Given the description of an element on the screen output the (x, y) to click on. 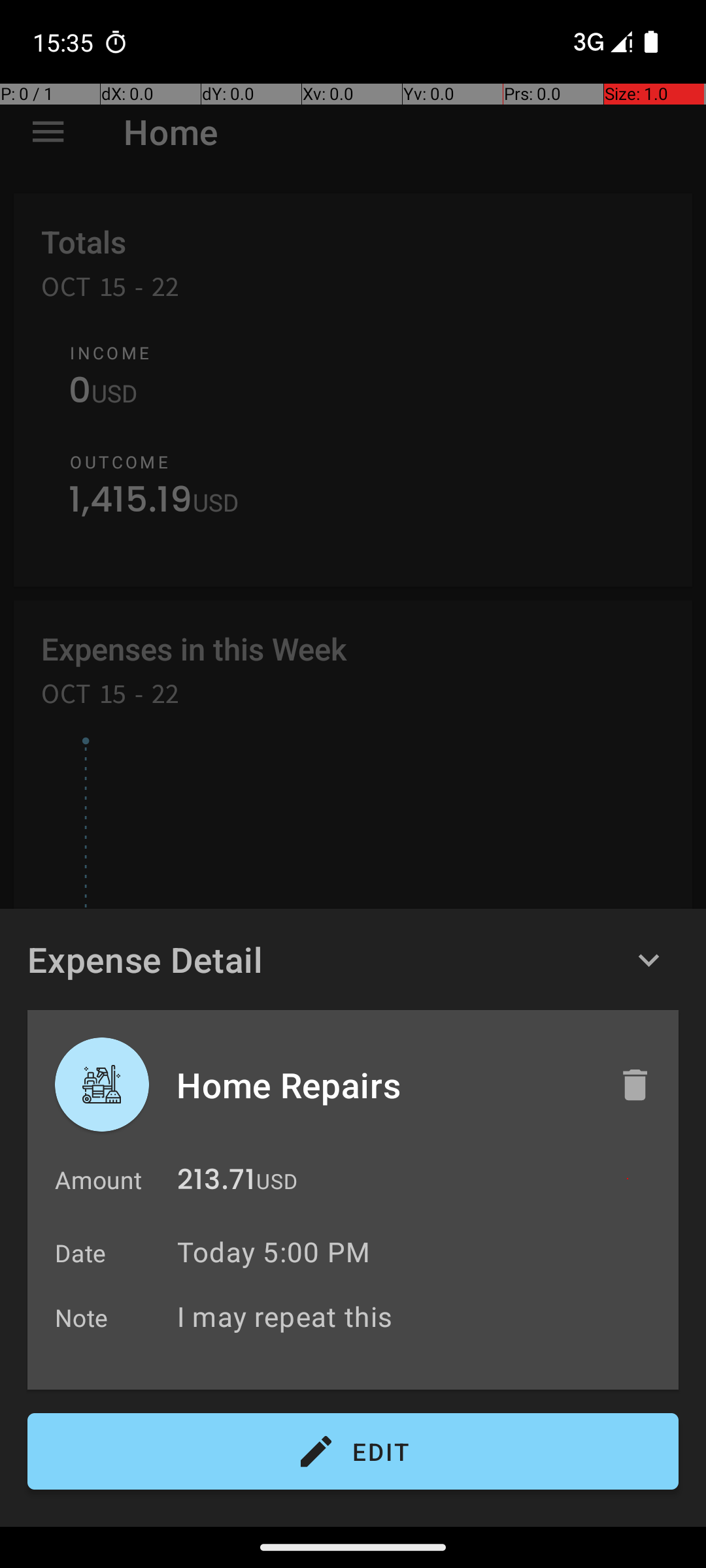
Home Repairs Element type: android.widget.TextView (383, 1084)
213.71 Element type: android.widget.TextView (215, 1182)
